Given the description of an element on the screen output the (x, y) to click on. 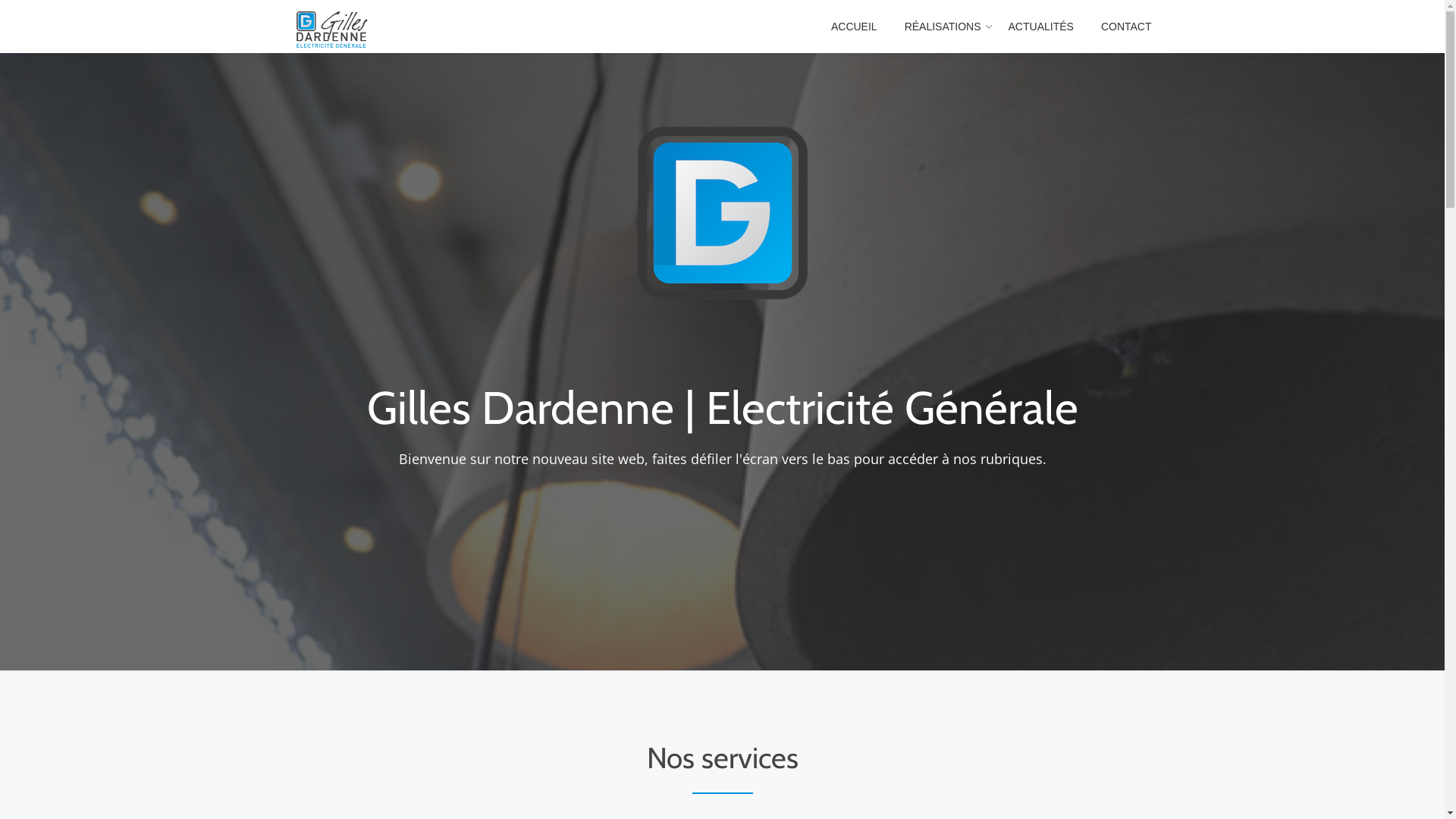
ACCUEIL Element type: text (854, 26)
CONTACT Element type: text (1126, 26)
Aller au contenu Element type: text (0, 30)
